Given the description of an element on the screen output the (x, y) to click on. 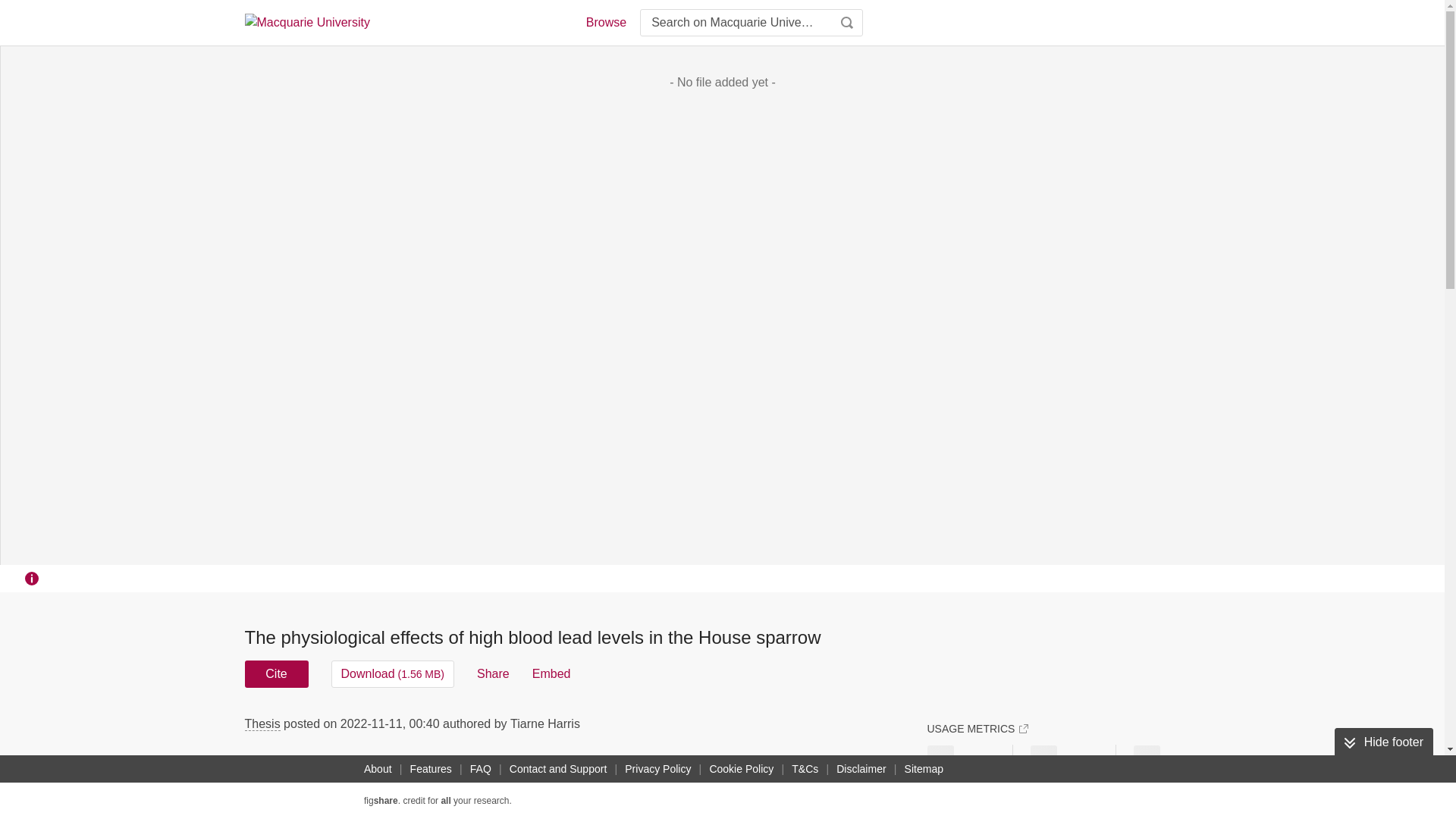
Browse (605, 22)
Disclaimer (860, 769)
About (377, 769)
Cookie Policy (740, 769)
Features (431, 769)
USAGE METRICS (976, 728)
Contact and Support (558, 769)
Privacy Policy (657, 769)
Hide footer (1383, 742)
Sitemap (923, 769)
